Given the description of an element on the screen output the (x, y) to click on. 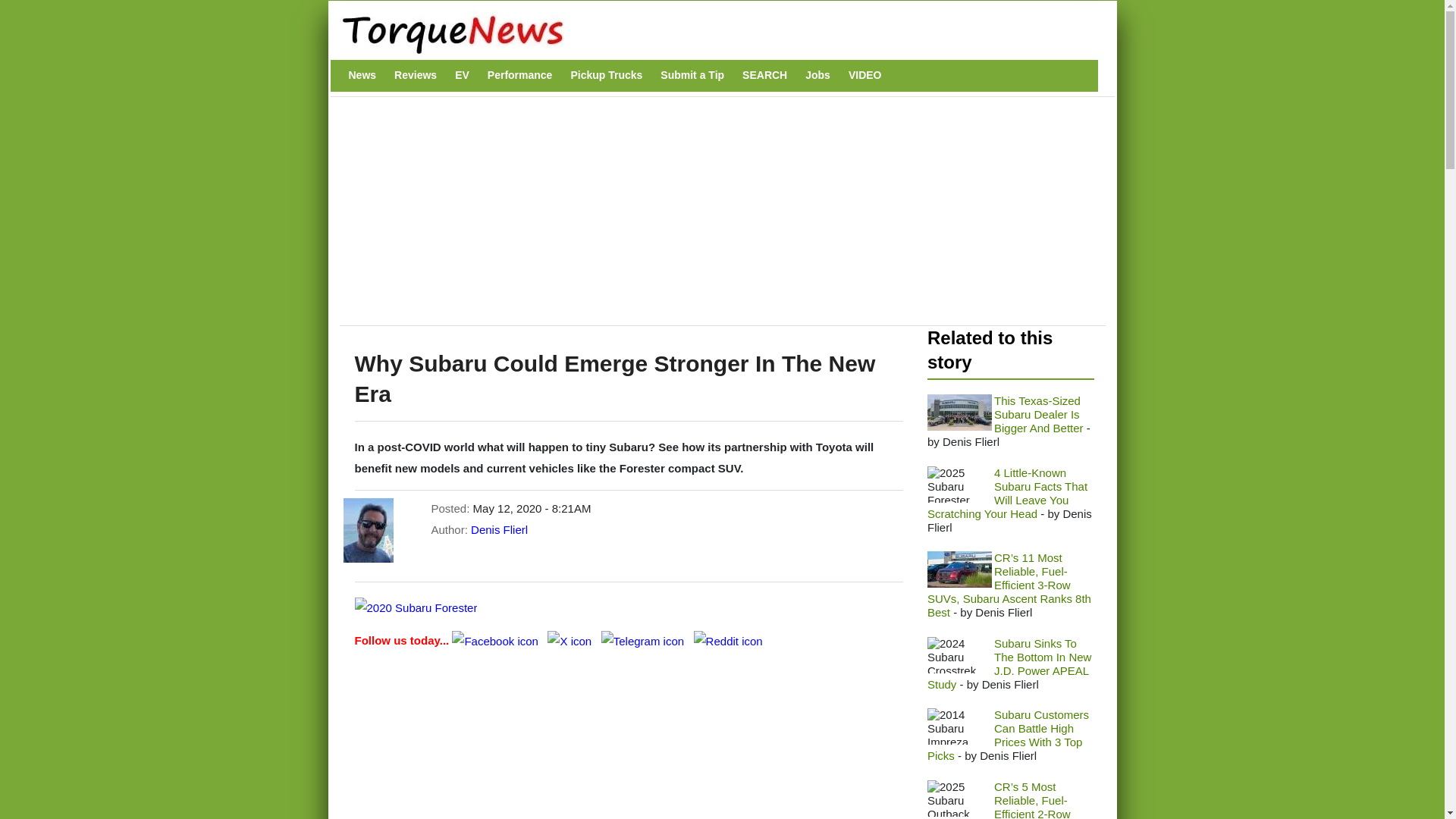
Home (713, 32)
View user profile. (498, 529)
Submit a Tip (691, 75)
Denis Flierl (498, 529)
Automotive journalism jobs and careers are TorqueNews.com. (817, 75)
Performance (520, 75)
VIDEO (865, 75)
SEARCH (764, 75)
News (362, 75)
EV (462, 75)
Reviews (415, 75)
2024 Subaru 5 Star with Outback and Crosstrek (959, 411)
2024 Subaru Crosstrek side view in San Fransisco (959, 655)
Join us on Telegram! (644, 640)
